Given the description of an element on the screen output the (x, y) to click on. 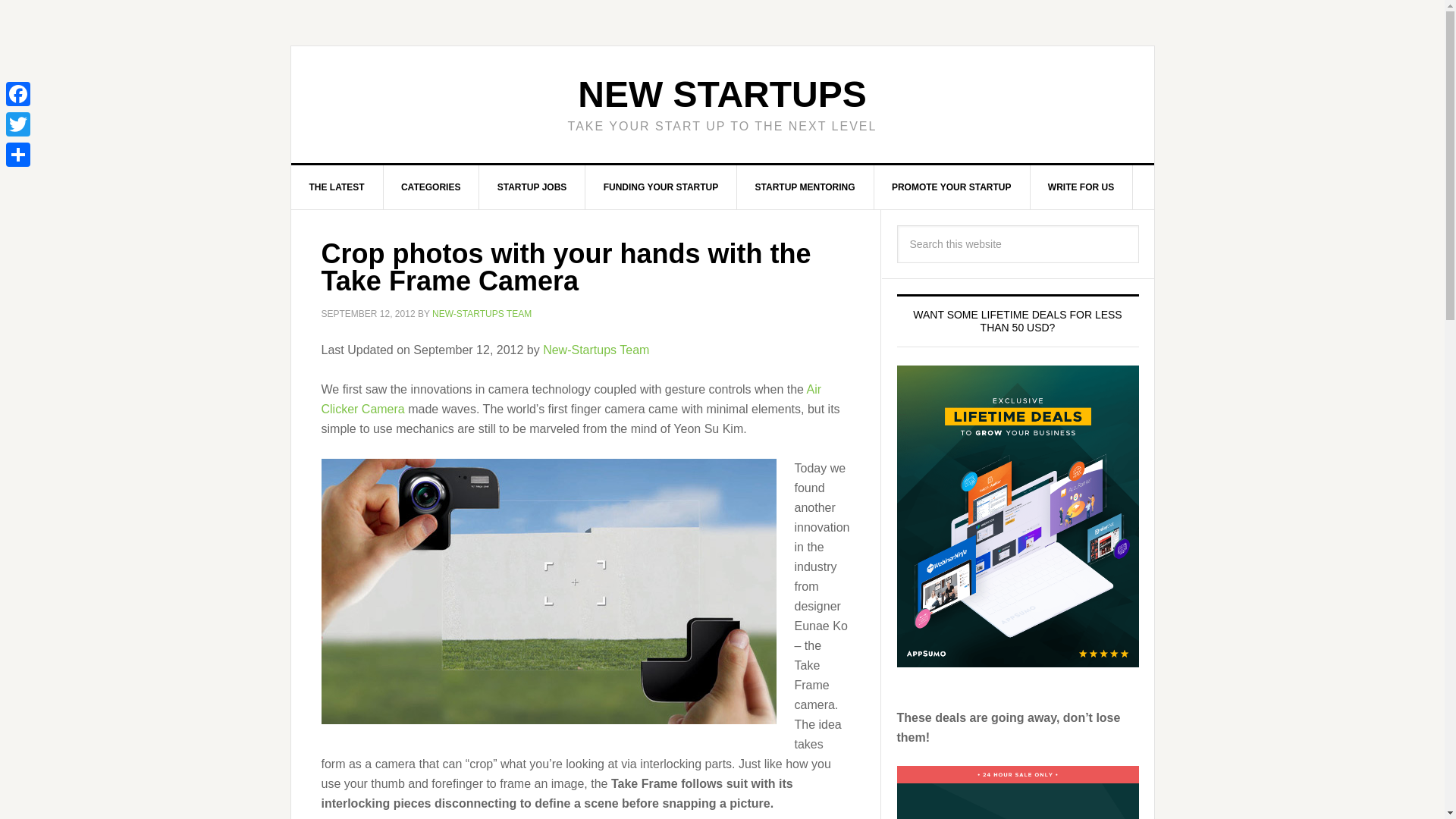
THE LATEST (337, 187)
STARTUP JOBS (532, 187)
STARTUP MENTORING (805, 187)
FUNDING YOUR STARTUP (661, 187)
Air Clicker Camera (571, 398)
CATEGORIES (430, 187)
PROMOTE YOUR STARTUP (951, 187)
